Given the description of an element on the screen output the (x, y) to click on. 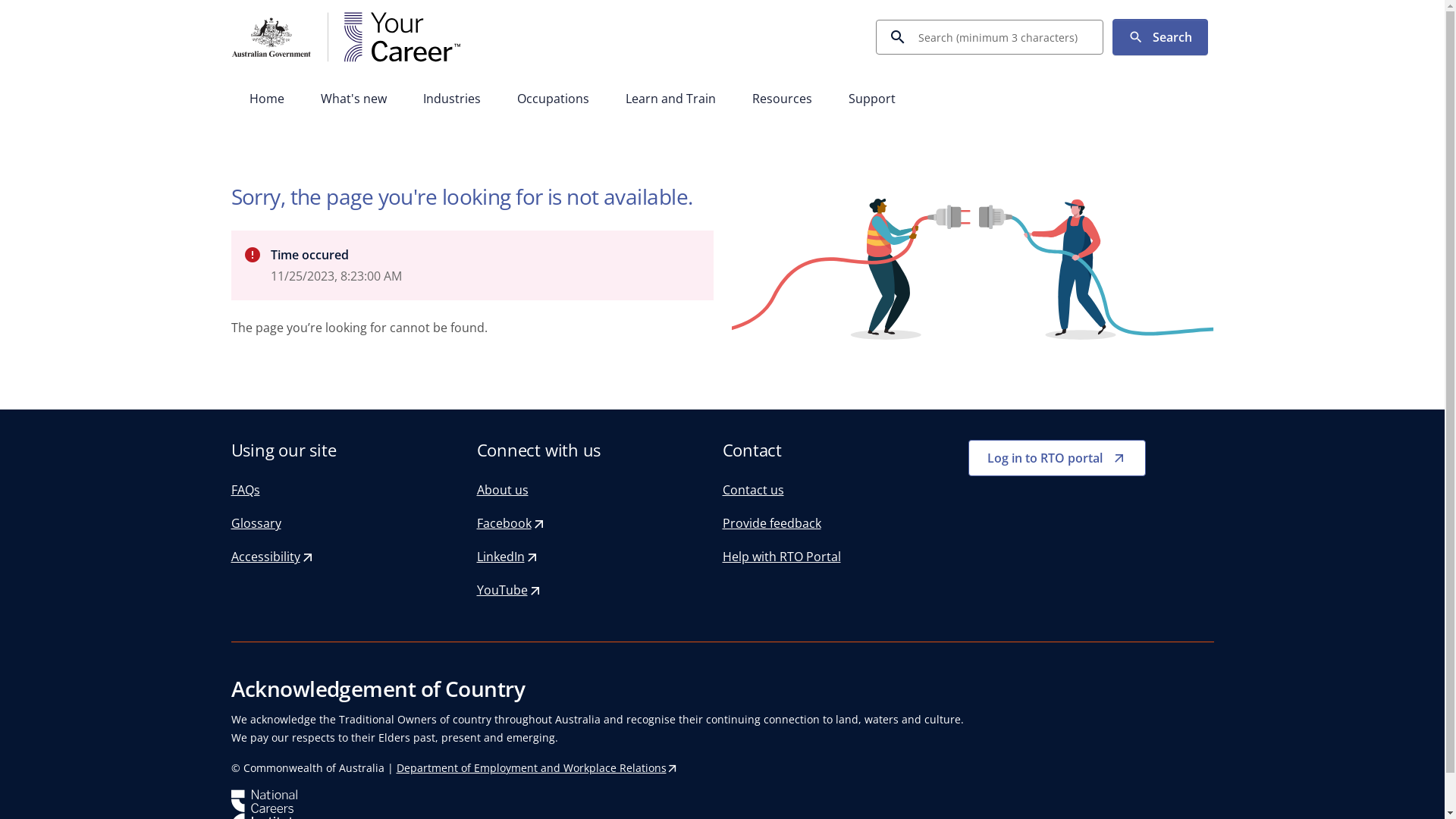
search
Search Element type: text (1159, 36)
Home Element type: text (265, 99)
Support Element type: text (871, 99)
Learn and Train Element type: text (669, 99)
Industries Element type: text (451, 99)
What's new Element type: text (352, 99)
Occupations Element type: text (552, 99)
Resources Element type: text (782, 99)
